Given the description of an element on the screen output the (x, y) to click on. 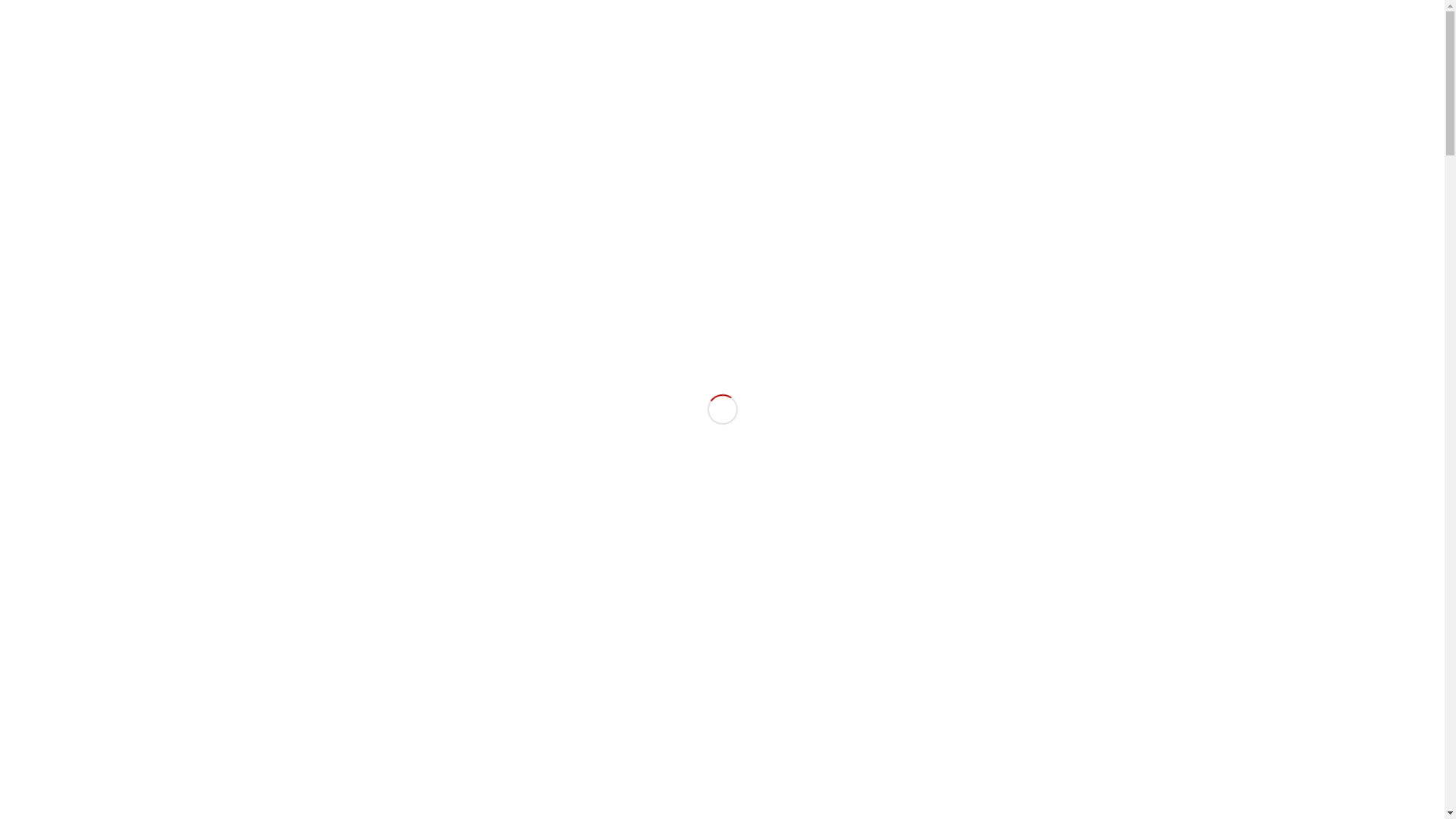
School Element type: text (816, 67)
fr Element type: text (1151, 10)
2 Element type: text (722, 585)
Resources Element type: text (1026, 67)
Facebook Element type: hover (267, 11)
1 Element type: text (710, 585)
Next Element type: text (1431, 357)
Dance Element type: text (709, 67)
Who are we? Element type: text (646, 67)
Events Element type: text (968, 67)
Theatre Element type: text (763, 67)
Contact Us Element type: text (1150, 67)
Youtube Element type: hover (290, 11)
en Element type: text (1175, 10)
Lebanon Element type: text (1090, 67)
Home Element type: text (581, 67)
3 Element type: text (734, 585)
Services Element type: text (914, 67)
Previous Element type: text (13, 357)
